Given the description of an element on the screen output the (x, y) to click on. 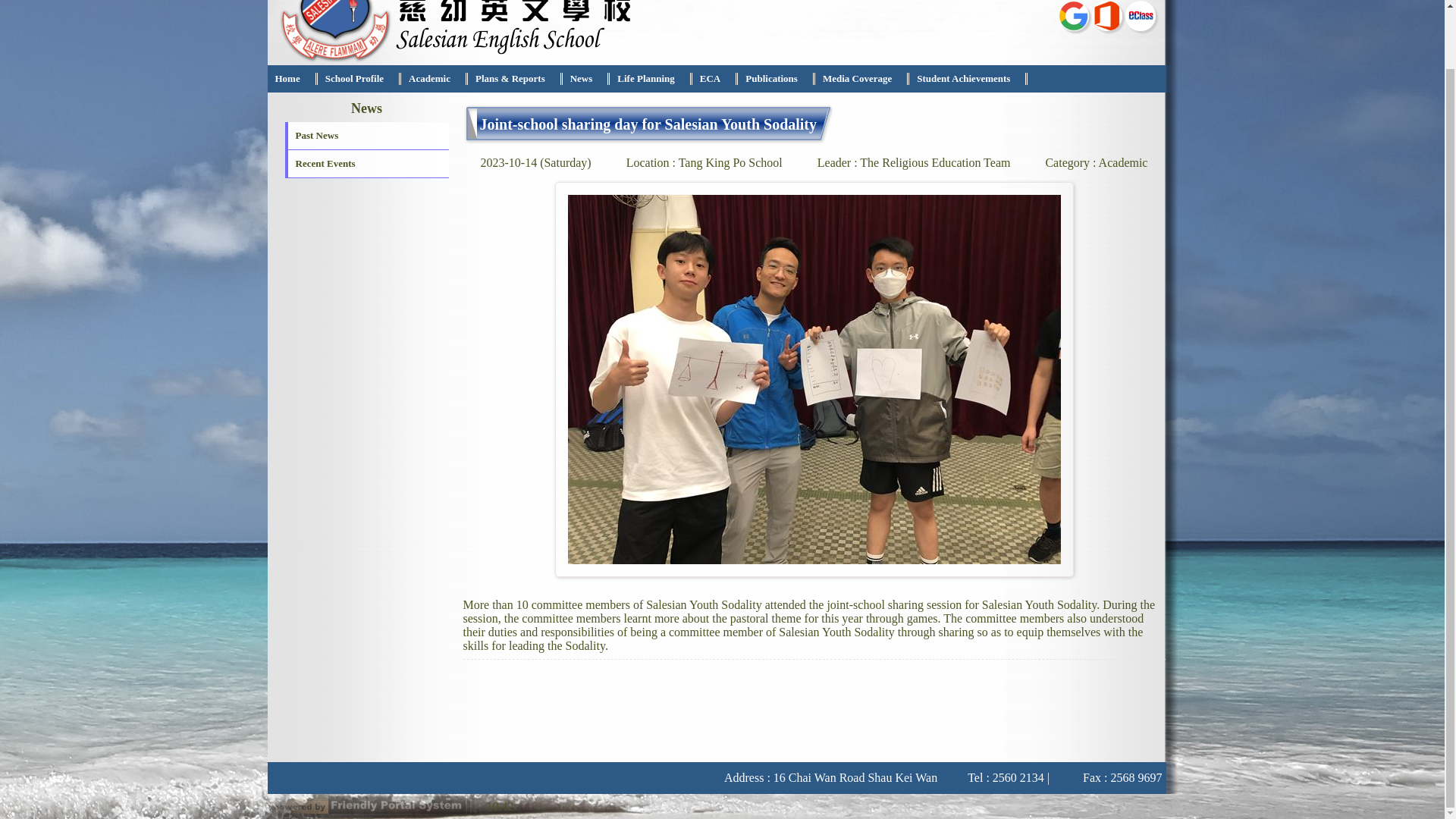
Academic (429, 78)
School Profile (354, 78)
News (581, 78)
Life Planning (646, 78)
Publications (771, 78)
Home of this website (287, 78)
ECA (710, 78)
Home (287, 78)
